Given the description of an element on the screen output the (x, y) to click on. 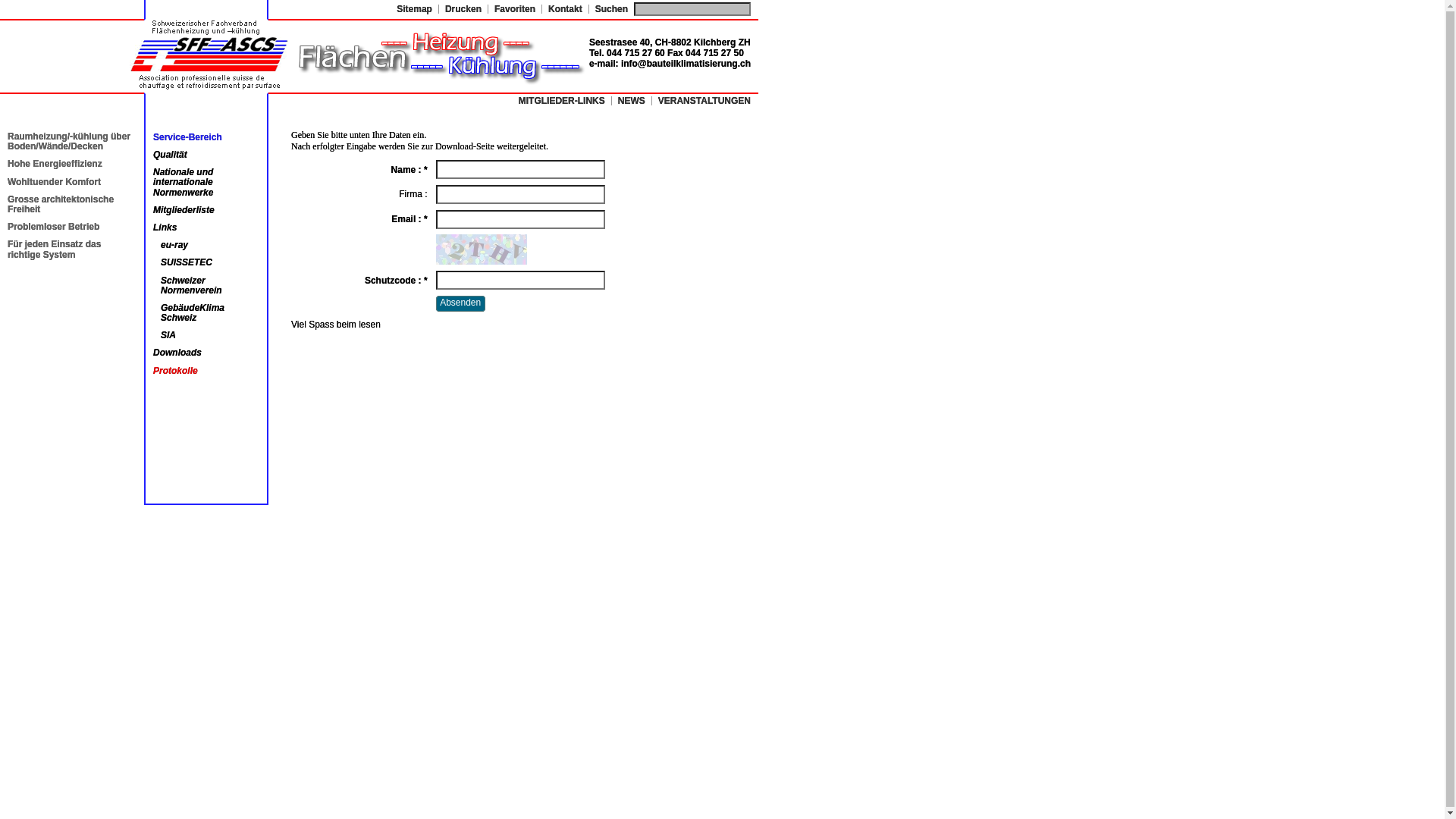
Problemloser Betrieb Element type: text (53, 226)
Schweizer Normenverein Element type: text (191, 284)
eu-ray Element type: text (174, 244)
SIA Element type: text (167, 334)
VERANSTALTUNGEN Element type: text (704, 100)
Nationale und internationale Normenwerke Element type: text (183, 181)
Links Element type: text (164, 227)
SUISSETEC Element type: text (186, 262)
Drucken Element type: text (463, 8)
Protokolle Element type: text (175, 370)
Absenden Element type: text (460, 303)
info@bauteilklimatisierung.ch Element type: text (685, 63)
MITGLIEDER-LINKS Element type: text (561, 100)
Downloads Element type: text (177, 352)
Wohltuender Komfort Element type: text (53, 181)
Mitgliederliste Element type: text (183, 209)
Grosse architektonische Freiheit Element type: text (60, 204)
Kontakt Element type: text (565, 8)
NEWS Element type: text (631, 100)
Suchen Element type: text (611, 8)
Favoriten Element type: text (514, 8)
Hohe Energieeffizienz Element type: text (54, 163)
Sitemap Element type: text (414, 8)
